Given the description of an element on the screen output the (x, y) to click on. 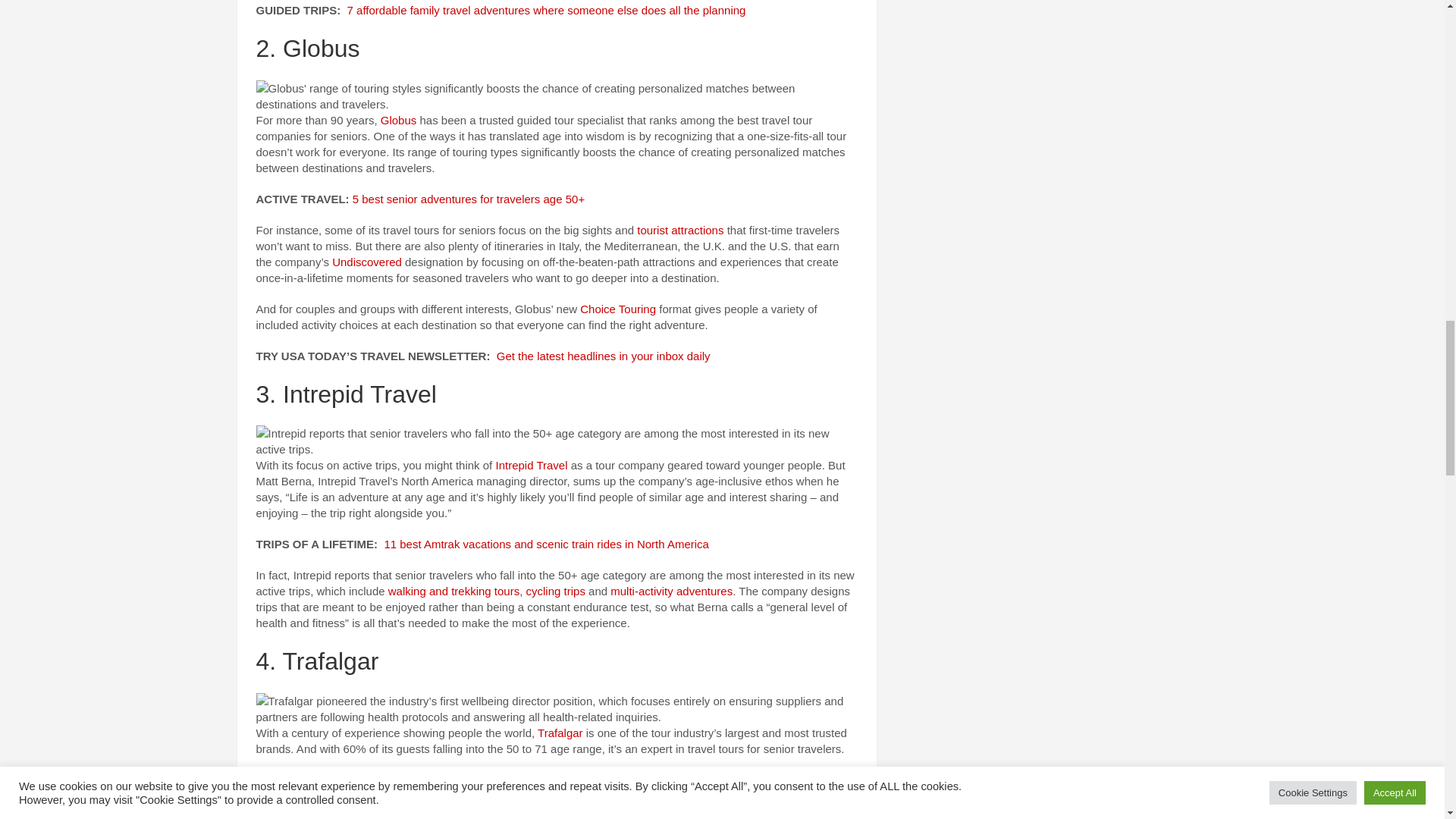
tourist attractions (680, 229)
Globus (398, 119)
